Given the description of an element on the screen output the (x, y) to click on. 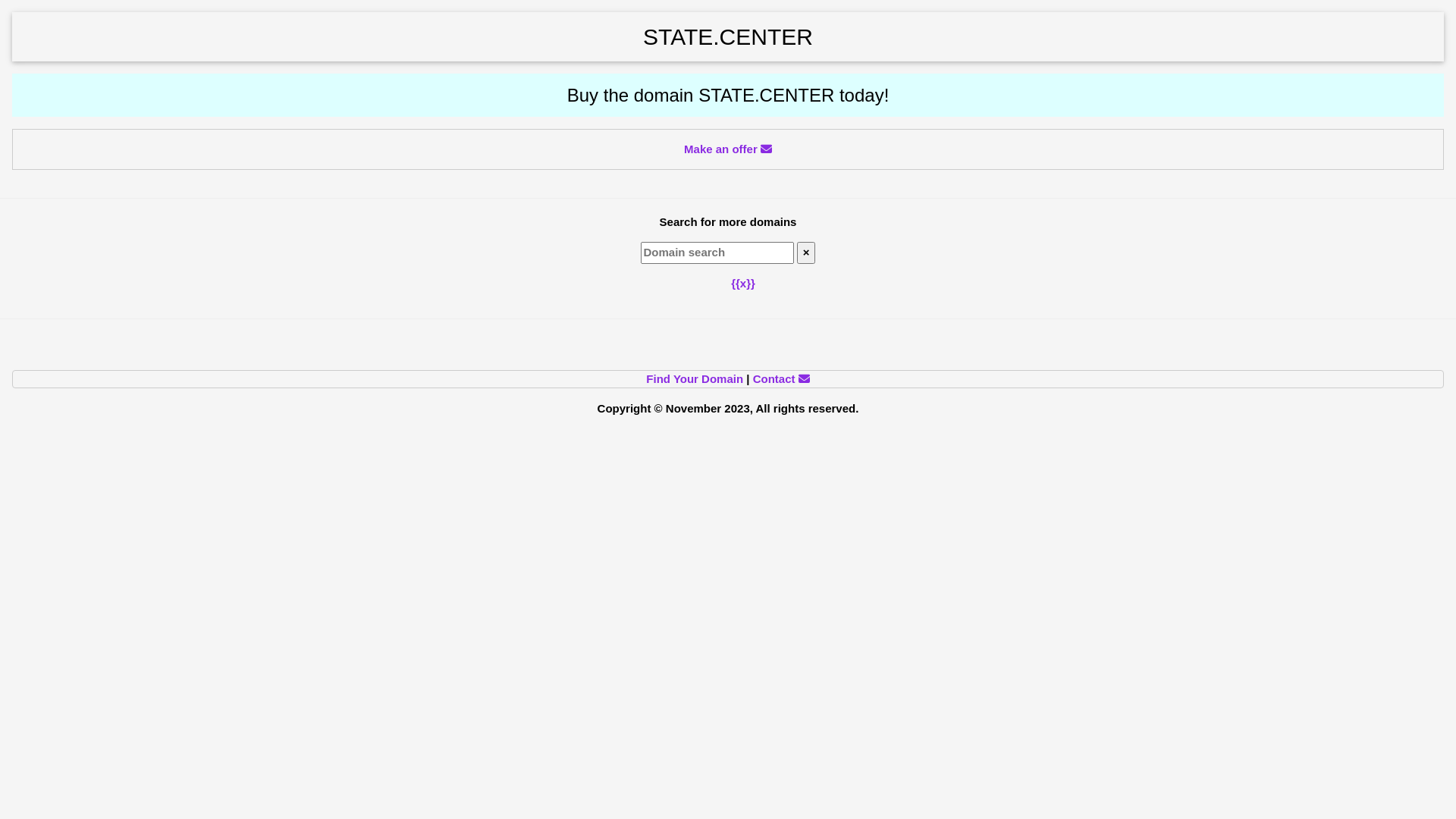
Make an offer Element type: text (727, 148)
Contact Element type: text (781, 378)
Find Your Domain Element type: text (694, 378)
